Given the description of an element on the screen output the (x, y) to click on. 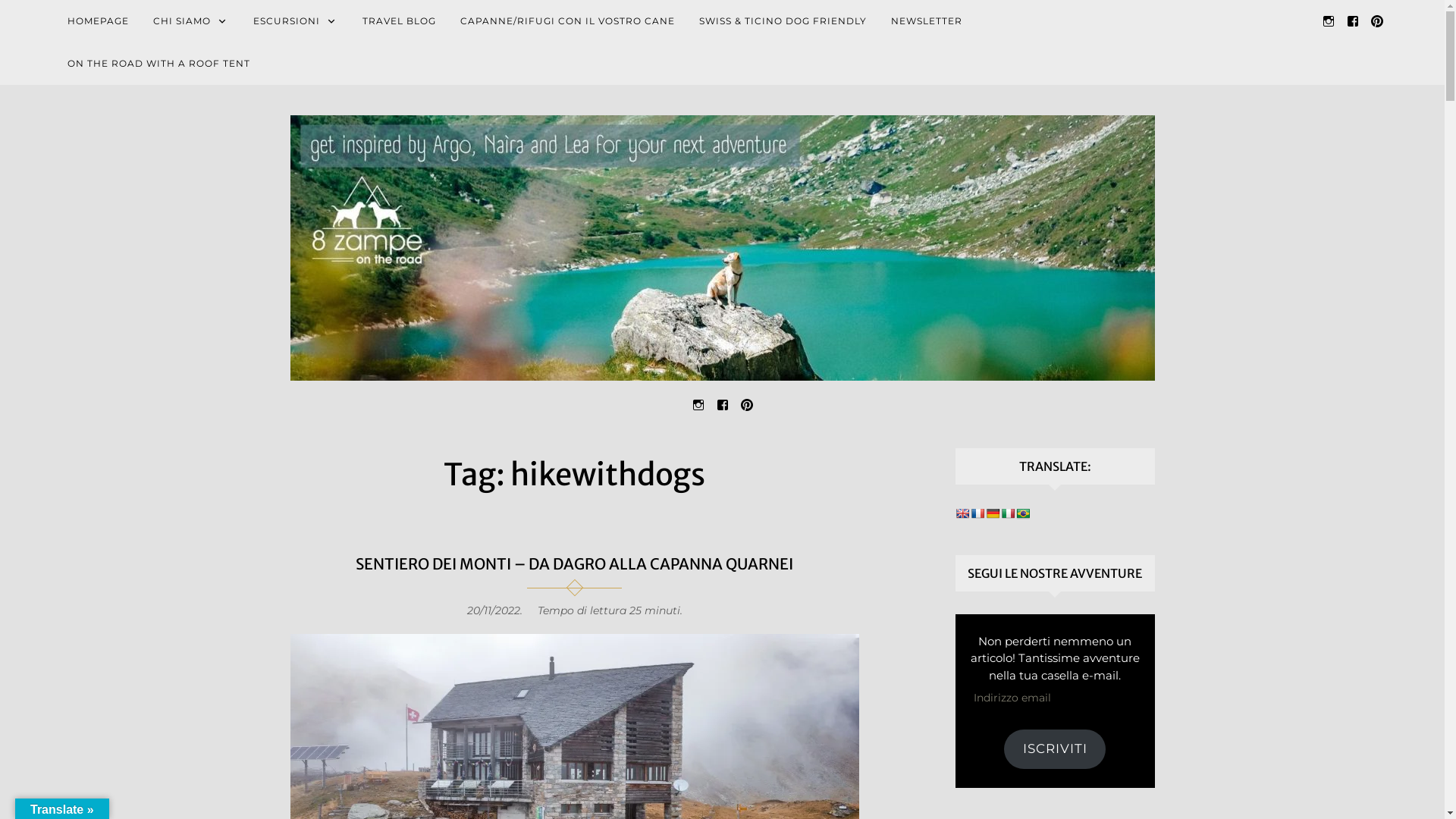
CHI SIAMO Element type: text (190, 21)
HOMEPAGE Element type: text (97, 21)
ON THE ROAD WITH A ROOF TENT Element type: text (158, 63)
SWISS & TICINO DOG FRIENDLY Element type: text (782, 21)
Portuguese Element type: hover (1022, 513)
ESCURSIONI Element type: text (295, 21)
German Element type: hover (992, 513)
REGALA Element type: text (957, 21)
CAPANNE/RIFUGI CON IL VOSTRO CANE Element type: text (567, 21)
English Element type: hover (962, 513)
TRAVEL BLOG Element type: text (398, 21)
Italian Element type: hover (1007, 513)
NEWSLETTER Element type: text (926, 21)
ISCRIVITI Element type: text (1054, 748)
French Element type: hover (977, 513)
